Given the description of an element on the screen output the (x, y) to click on. 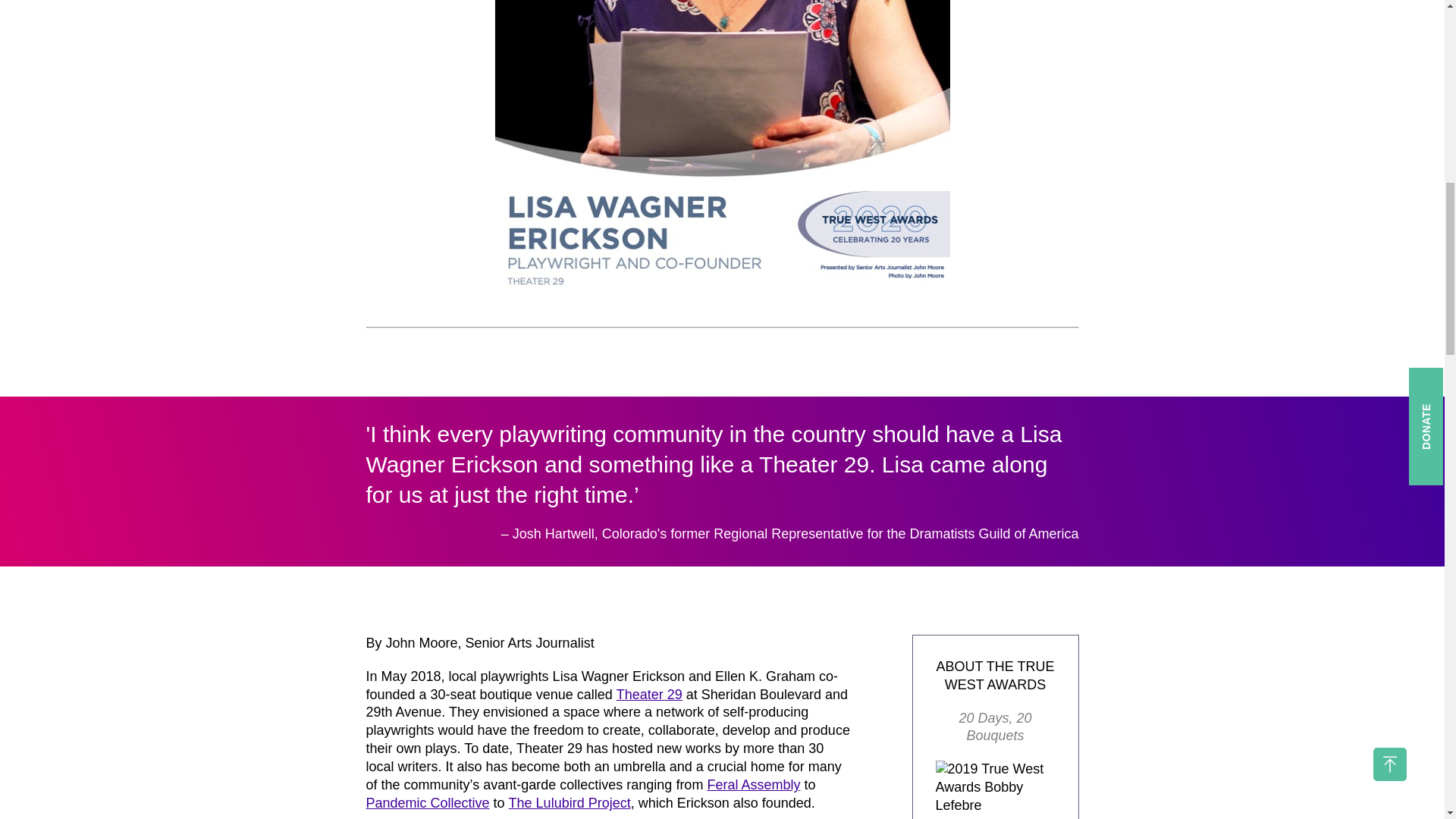
Theater 29 (648, 694)
Feral Assembly (752, 784)
The Lulubird Project (569, 802)
Pandemic Collective (427, 802)
